Given the description of an element on the screen output the (x, y) to click on. 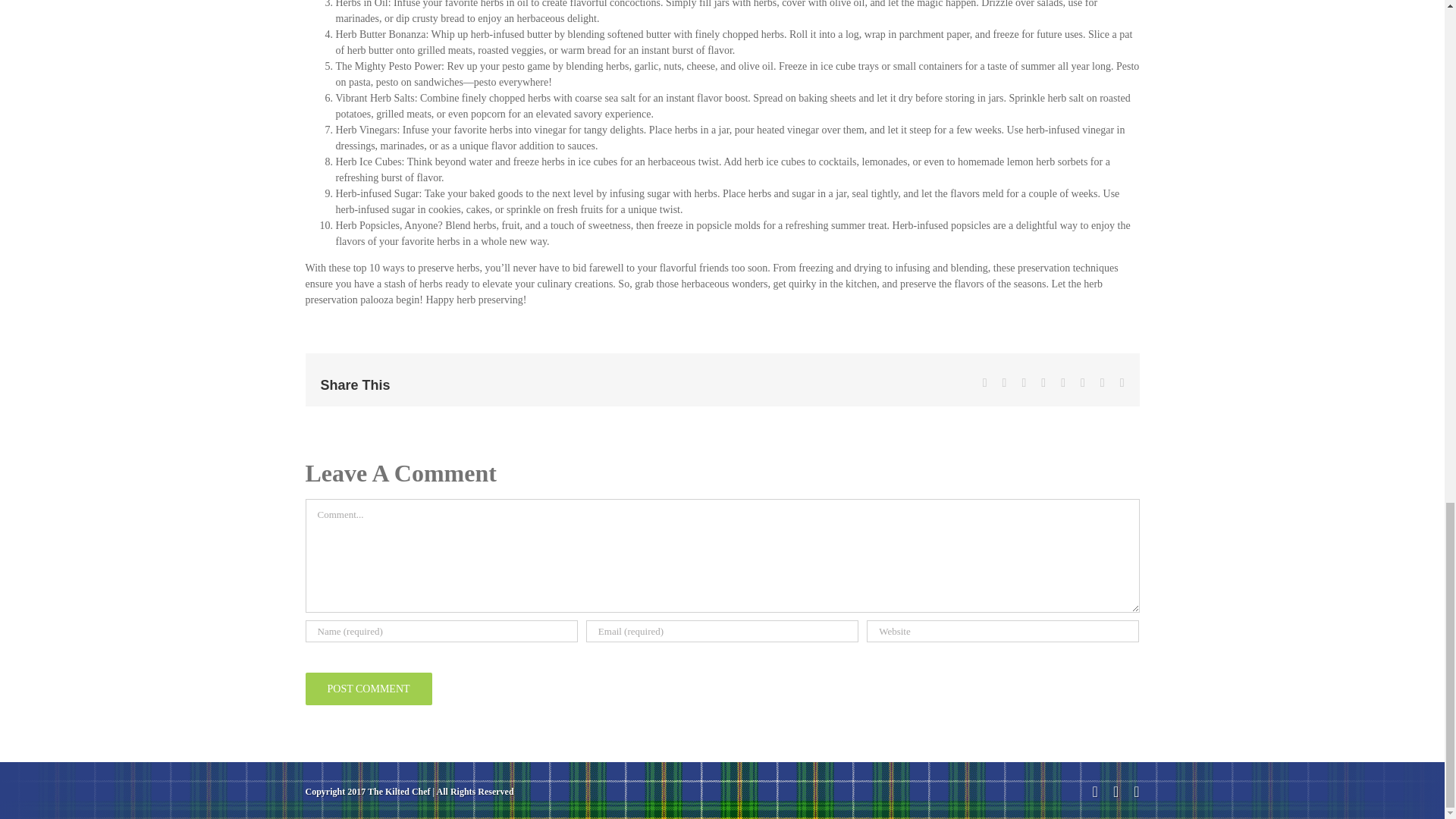
Post Comment (367, 688)
Post Comment (367, 688)
